Given the description of an element on the screen output the (x, y) to click on. 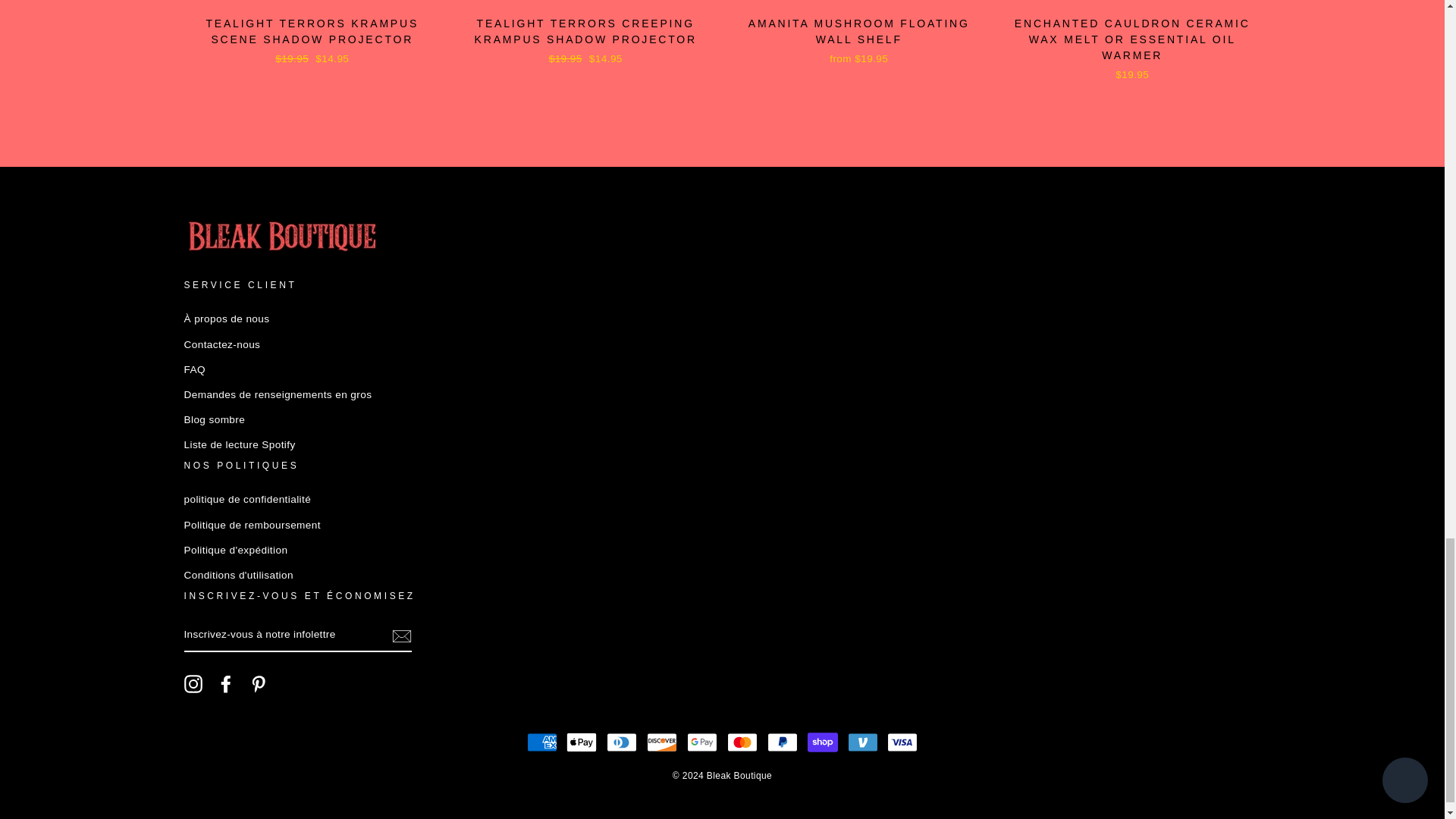
American Express (542, 742)
Discover (661, 742)
Bleak Boutique sur Facebook (225, 683)
Diners Club (622, 742)
Bleak Boutique sur Instagram (192, 683)
Visa (901, 742)
PayPal (782, 742)
Venmo (862, 742)
Apple Pay (581, 742)
Shop Pay (823, 742)
